Given the description of an element on the screen output the (x, y) to click on. 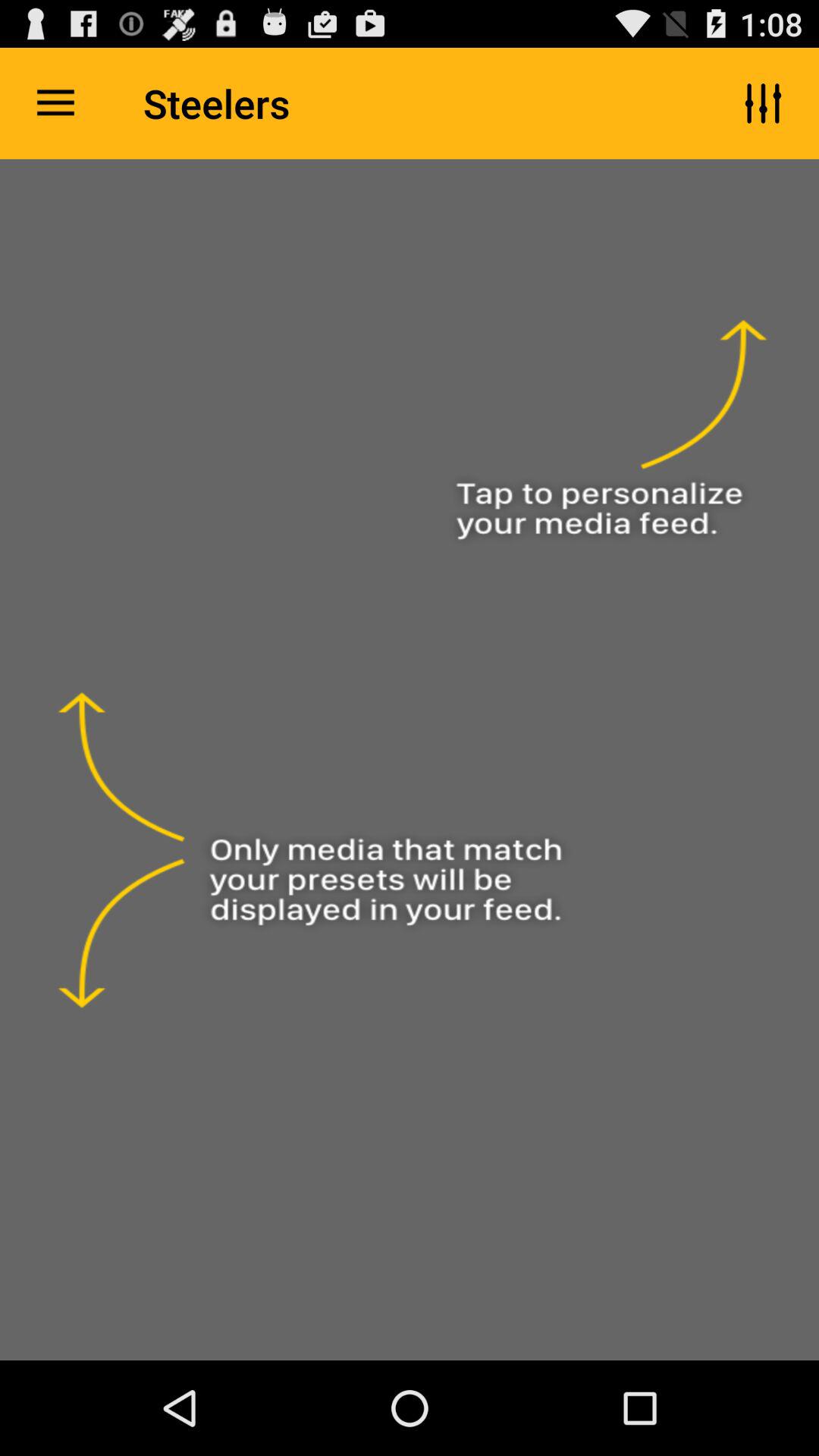
click the icon next to the steelers item (55, 103)
